Given the description of an element on the screen output the (x, y) to click on. 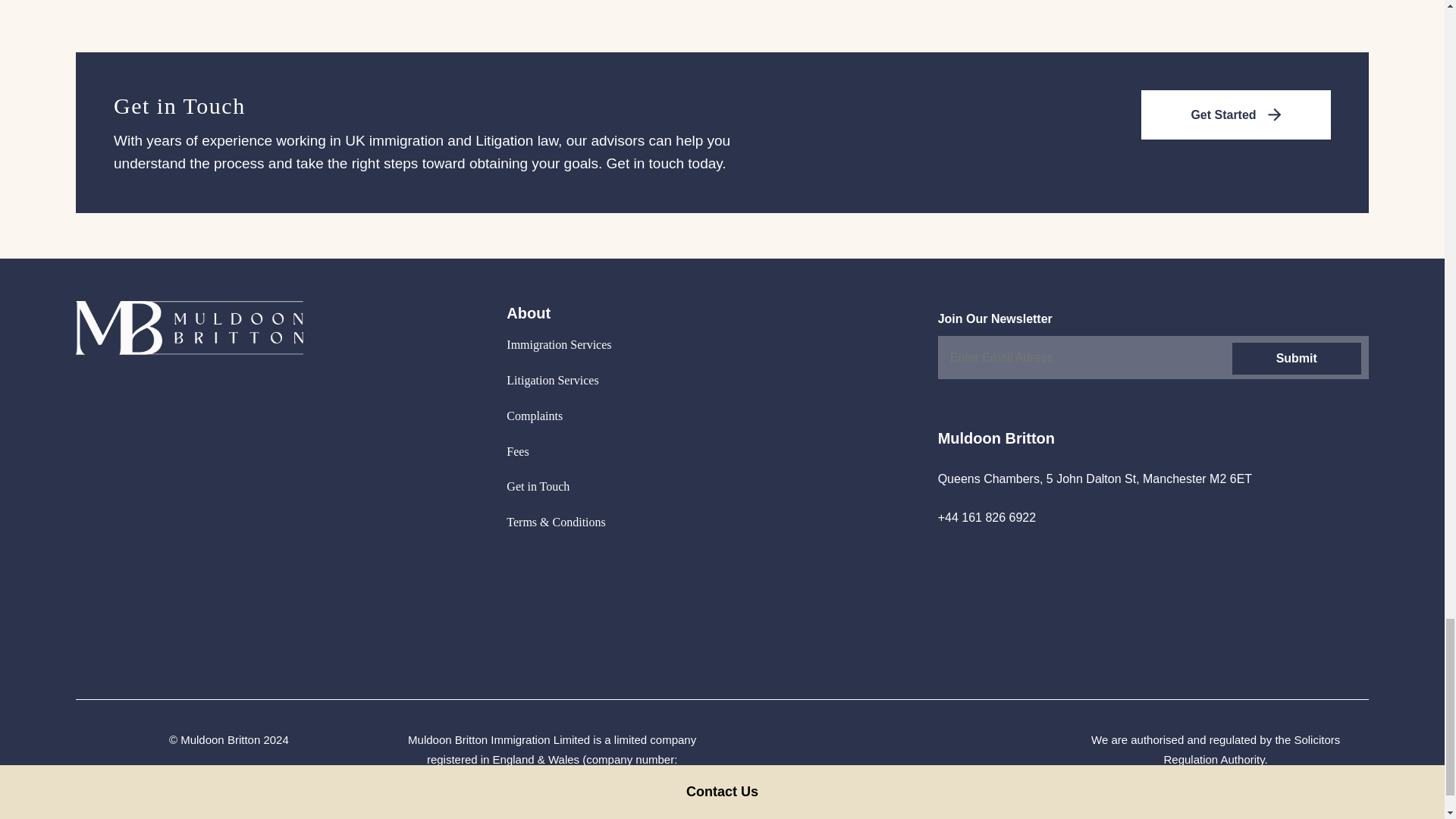
Submit (1295, 358)
